Given the description of an element on the screen output the (x, y) to click on. 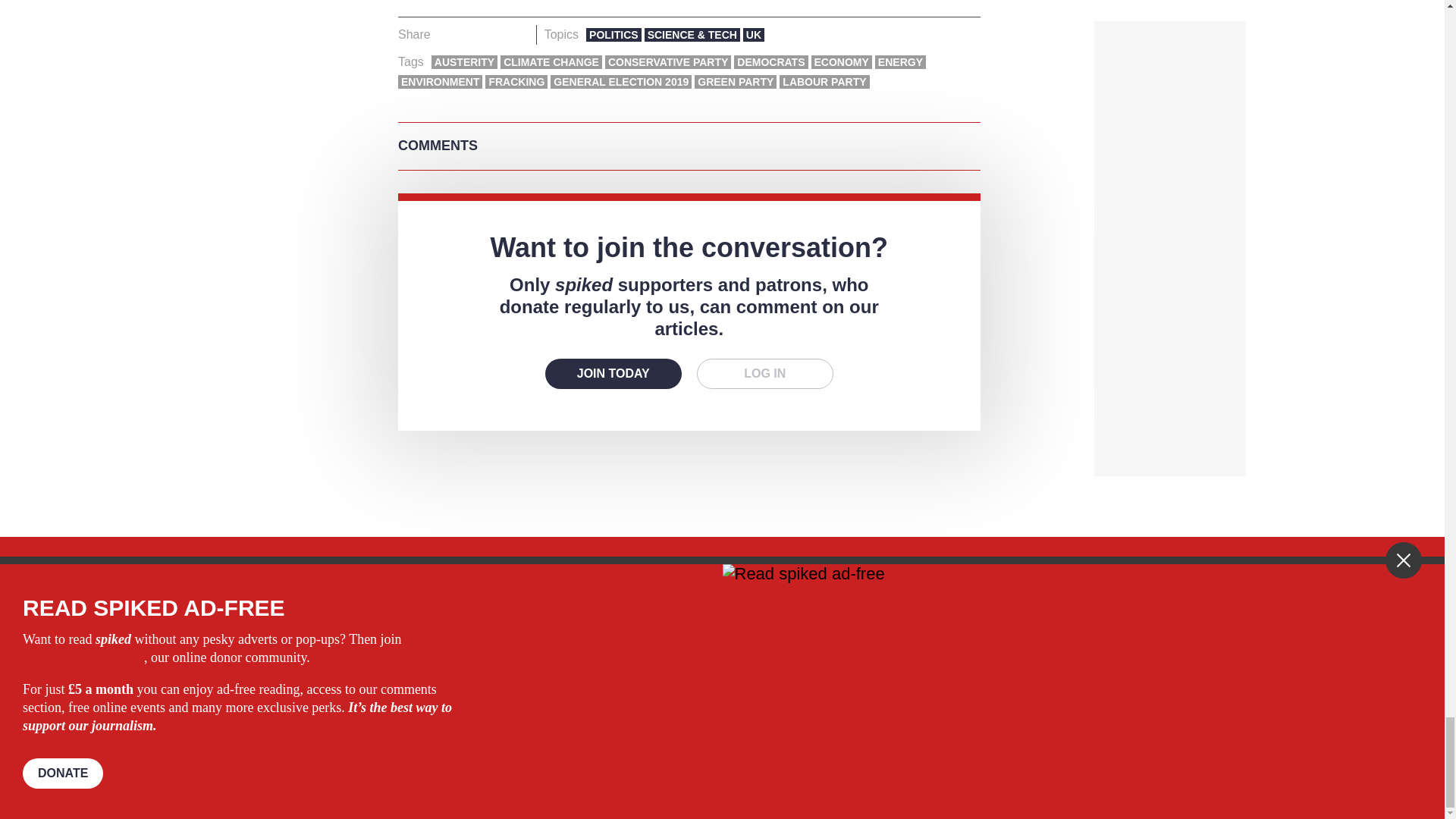
Share on Twitter (471, 35)
Share on Facebook (448, 35)
Share on Email (518, 35)
Share on Whatsapp (494, 35)
